Given the description of an element on the screen output the (x, y) to click on. 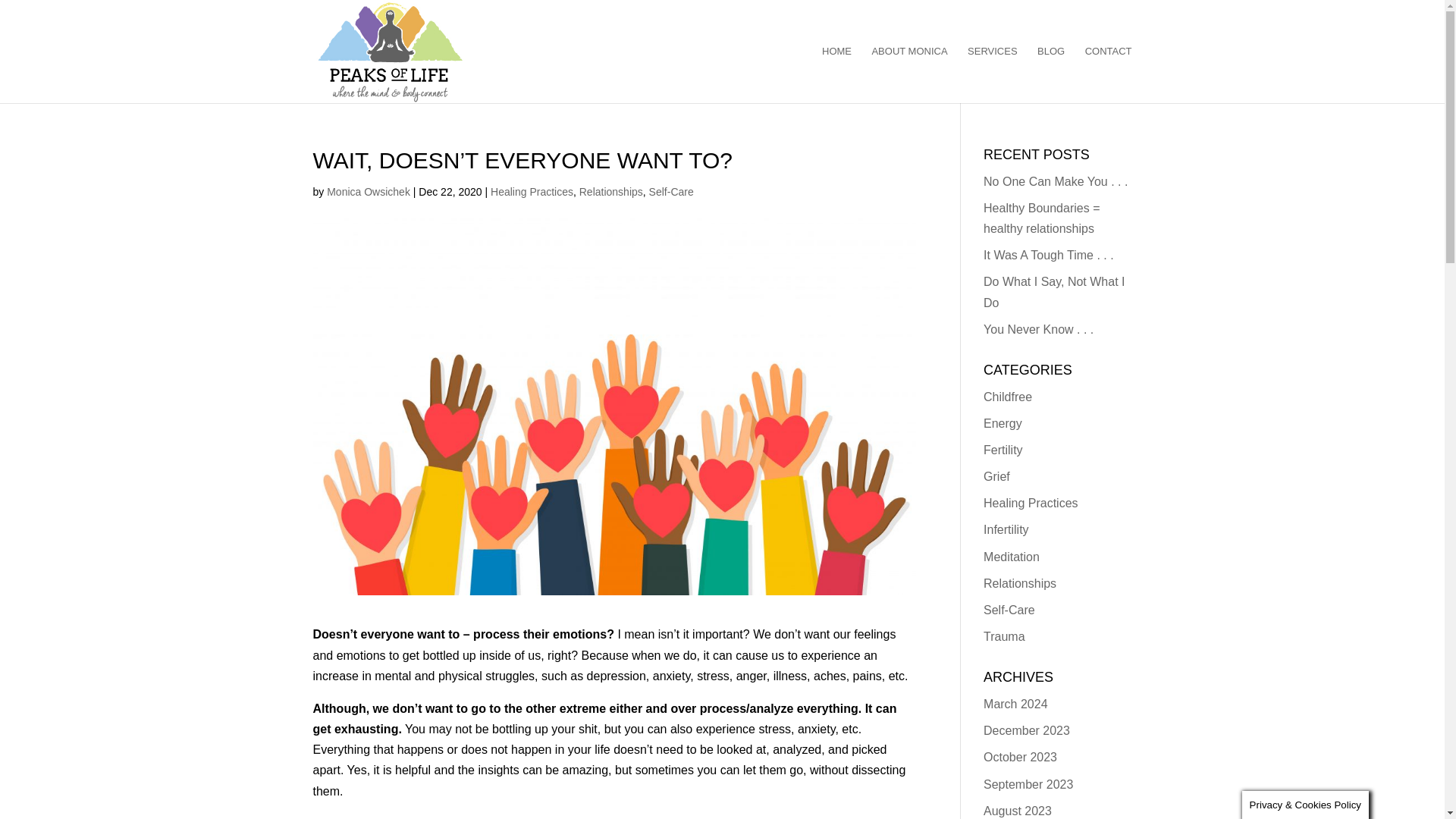
Relationships (1020, 583)
Fertility (1003, 449)
Relationships (611, 191)
August 2023 (1017, 810)
Healing Practices (1031, 502)
Do What I Say, Not What I Do (1054, 291)
ABOUT MONICA (908, 74)
Posts by Monica Owsichek (368, 191)
Infertility (1006, 529)
Childfree (1008, 395)
Monica Owsichek (368, 191)
October 2023 (1020, 757)
You Never Know . . . (1038, 328)
March 2024 (1016, 703)
It Was A Tough Time . . . (1048, 254)
